Given the description of an element on the screen output the (x, y) to click on. 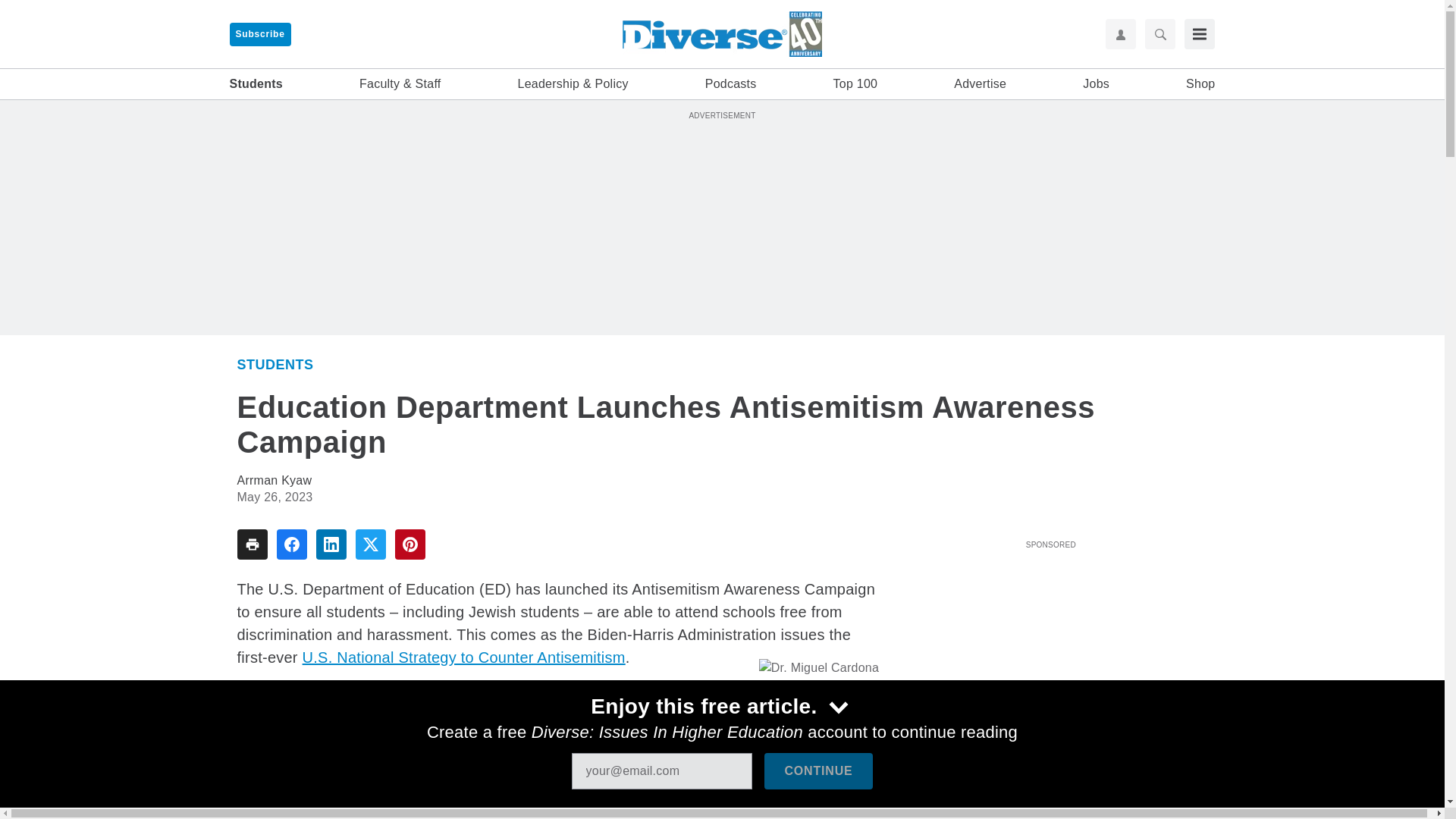
Top 100 (854, 84)
Jobs (1096, 84)
Subscribe (258, 33)
Share To facebook (290, 544)
Share To twitter (370, 544)
Advertise (979, 84)
Subscribe (258, 33)
Share To linkedin (330, 544)
Podcasts (730, 84)
Share To pinterest (409, 544)
Students (274, 364)
Shop (1200, 84)
Students (255, 84)
Share To print (250, 544)
